Given the description of an element on the screen output the (x, y) to click on. 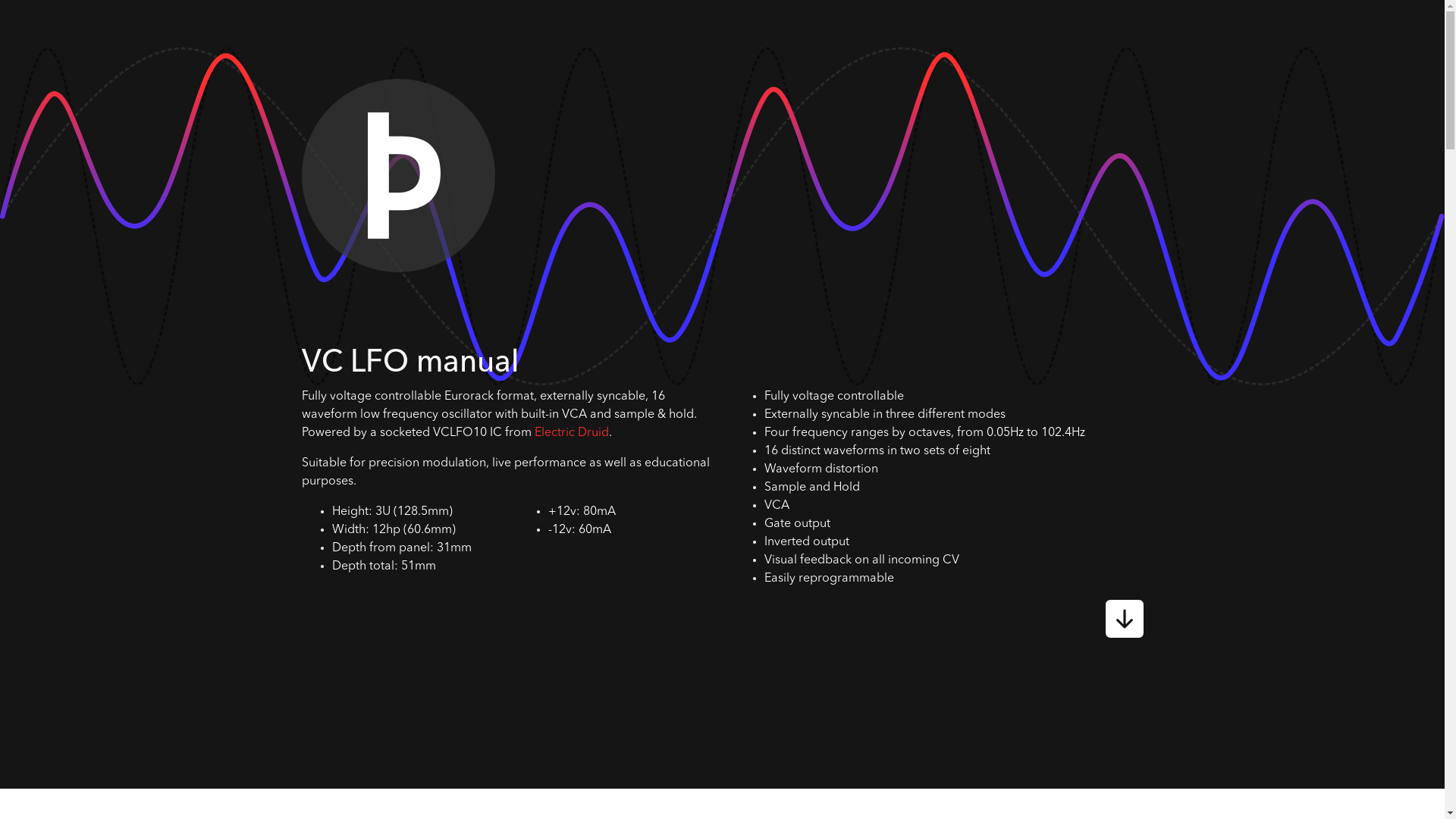
Electric Druid Element type: text (570, 432)
